Given the description of an element on the screen output the (x, y) to click on. 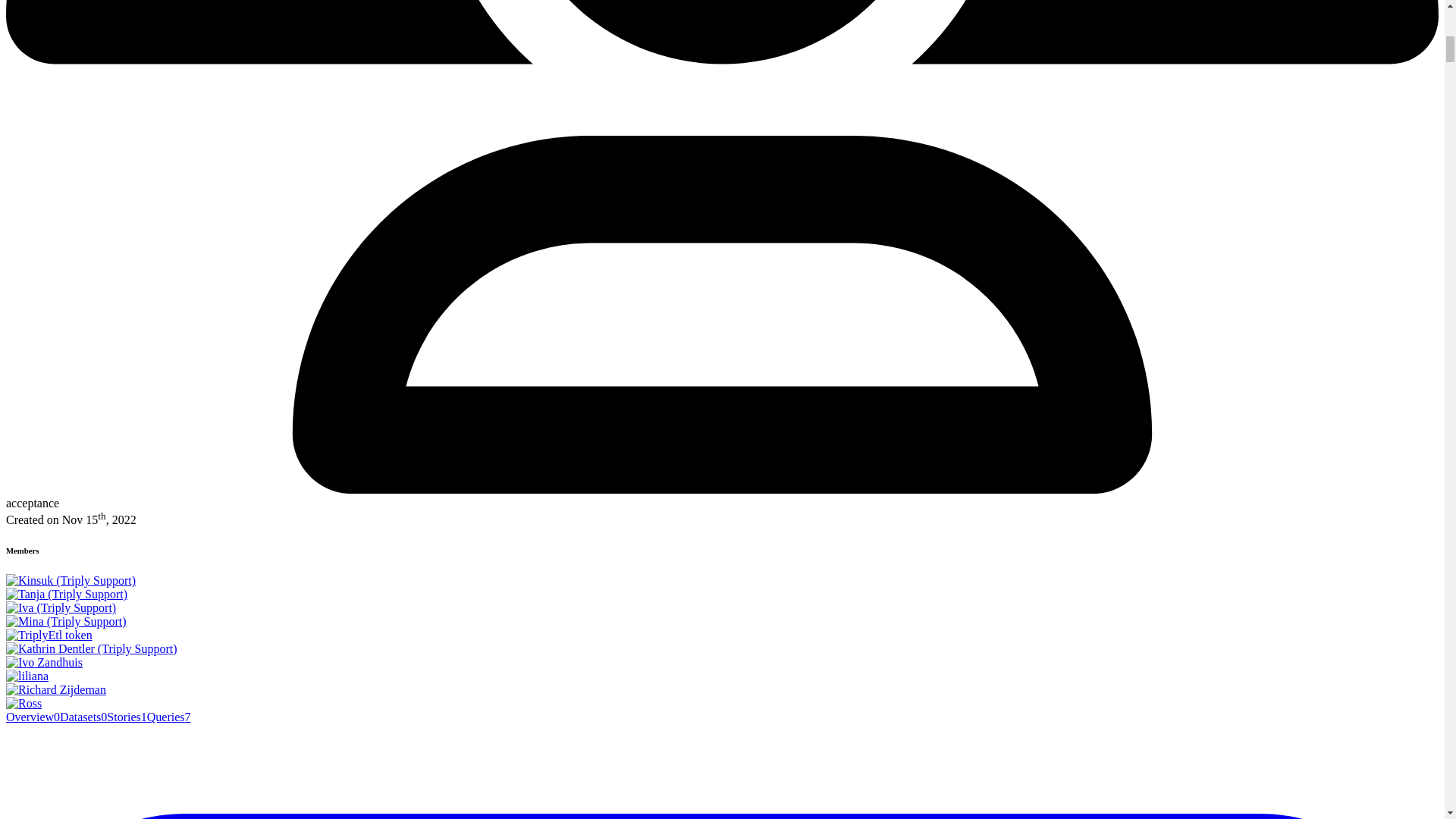
Ivo Zandhuis (43, 662)
Queries7 (168, 716)
Stories1 (126, 716)
Datasets0 (82, 716)
TriplyEtl token (49, 635)
Overview0 (32, 716)
Richard Zijdeman (55, 689)
Ross (23, 703)
liliana (26, 676)
